Given the description of an element on the screen output the (x, y) to click on. 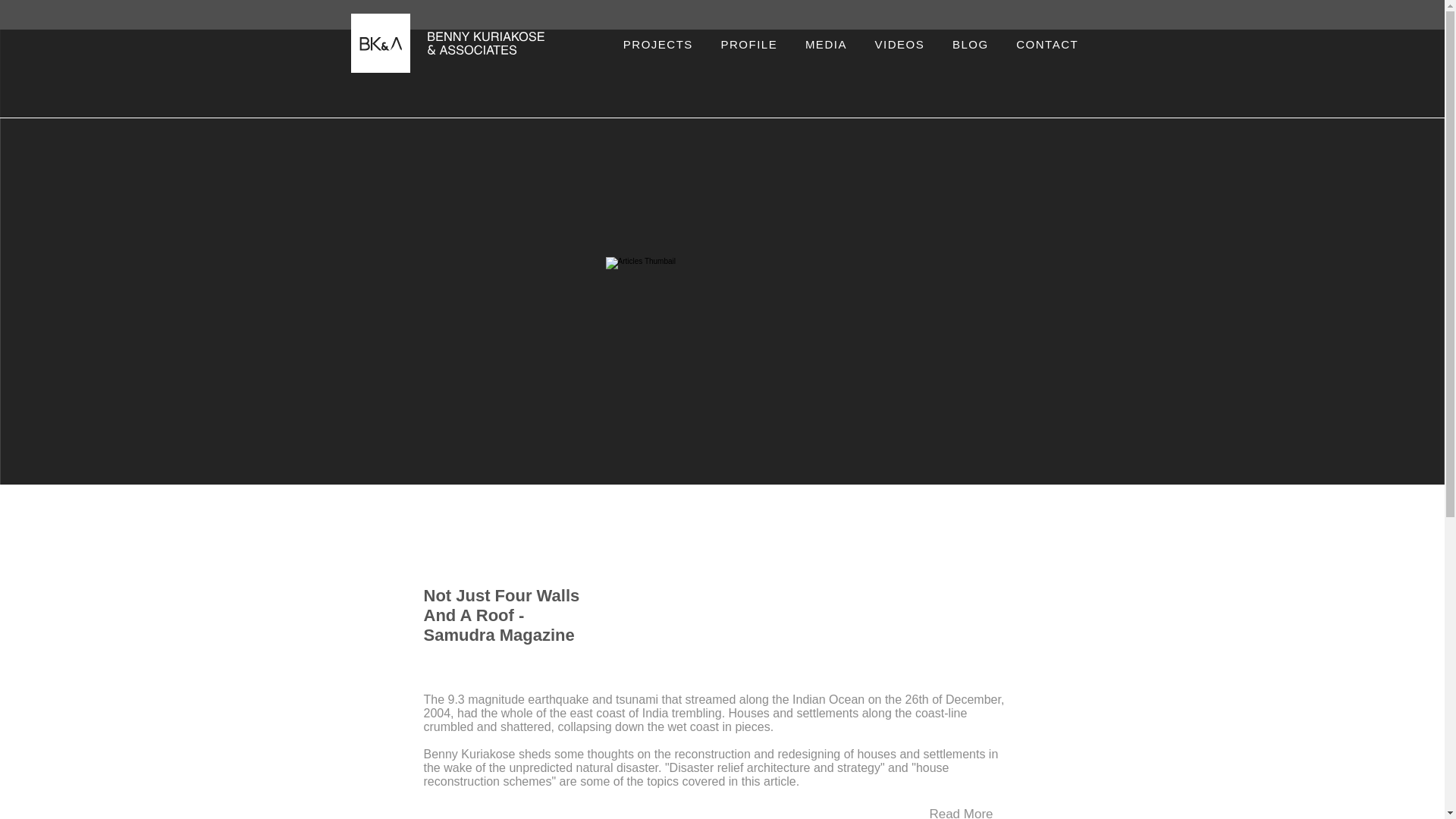
CONTACT (1048, 44)
BLOG (971, 44)
Read More (960, 809)
MEDIA (826, 44)
VIDEOS (898, 44)
PROFILE (748, 44)
PROJECTS (658, 44)
